Given the description of an element on the screen output the (x, y) to click on. 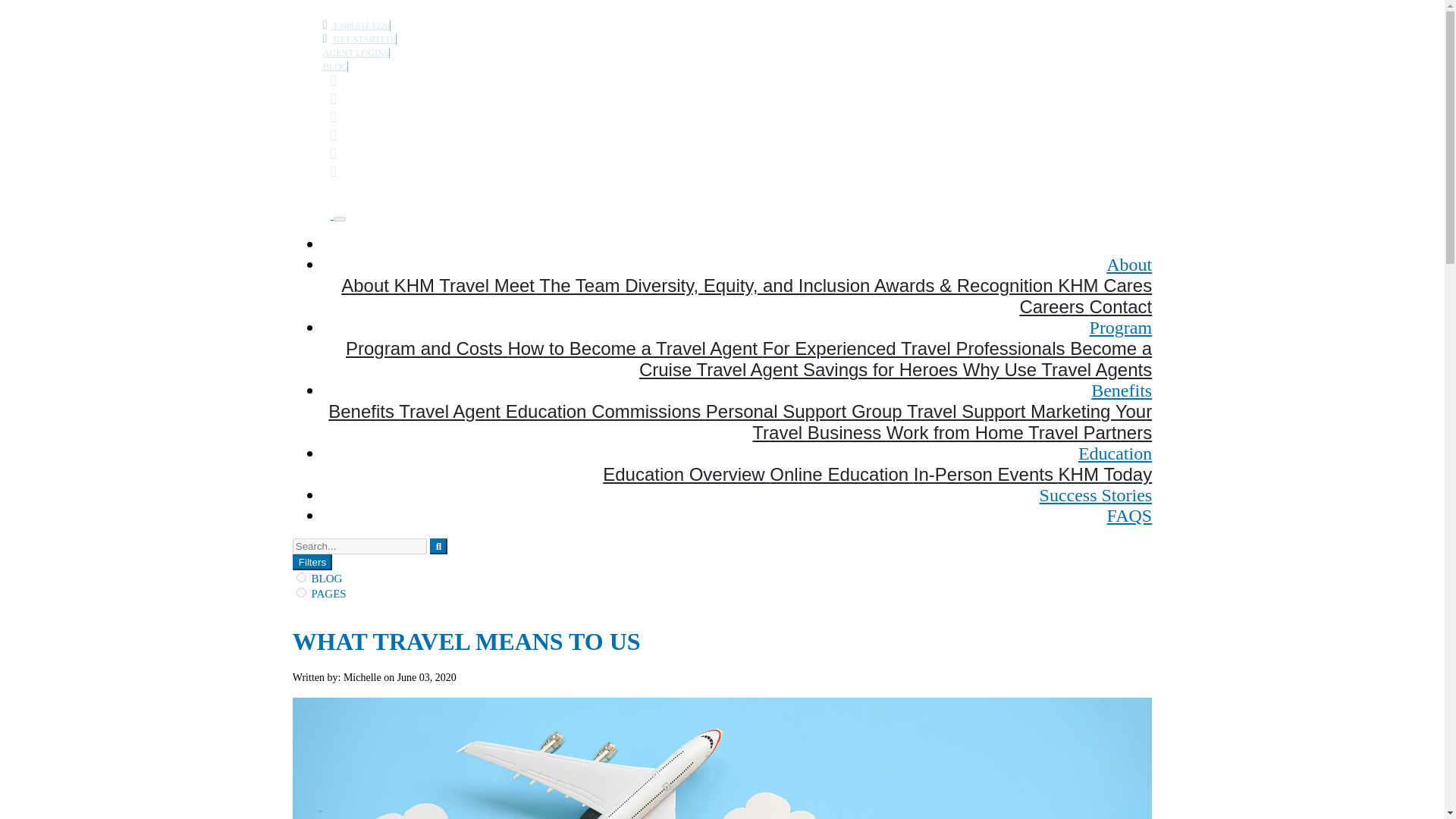
For Experienced Travel Professionals (916, 348)
Benefits (1120, 390)
How to Become a Travel Agent (633, 348)
Group Travel Support (940, 411)
Why Use Travel Agents (1056, 369)
Contact (1120, 306)
post (301, 577)
GET STARTED! (359, 39)
Diversity, Equity, and Inclusion (749, 285)
Work from Home (956, 432)
